Given the description of an element on the screen output the (x, y) to click on. 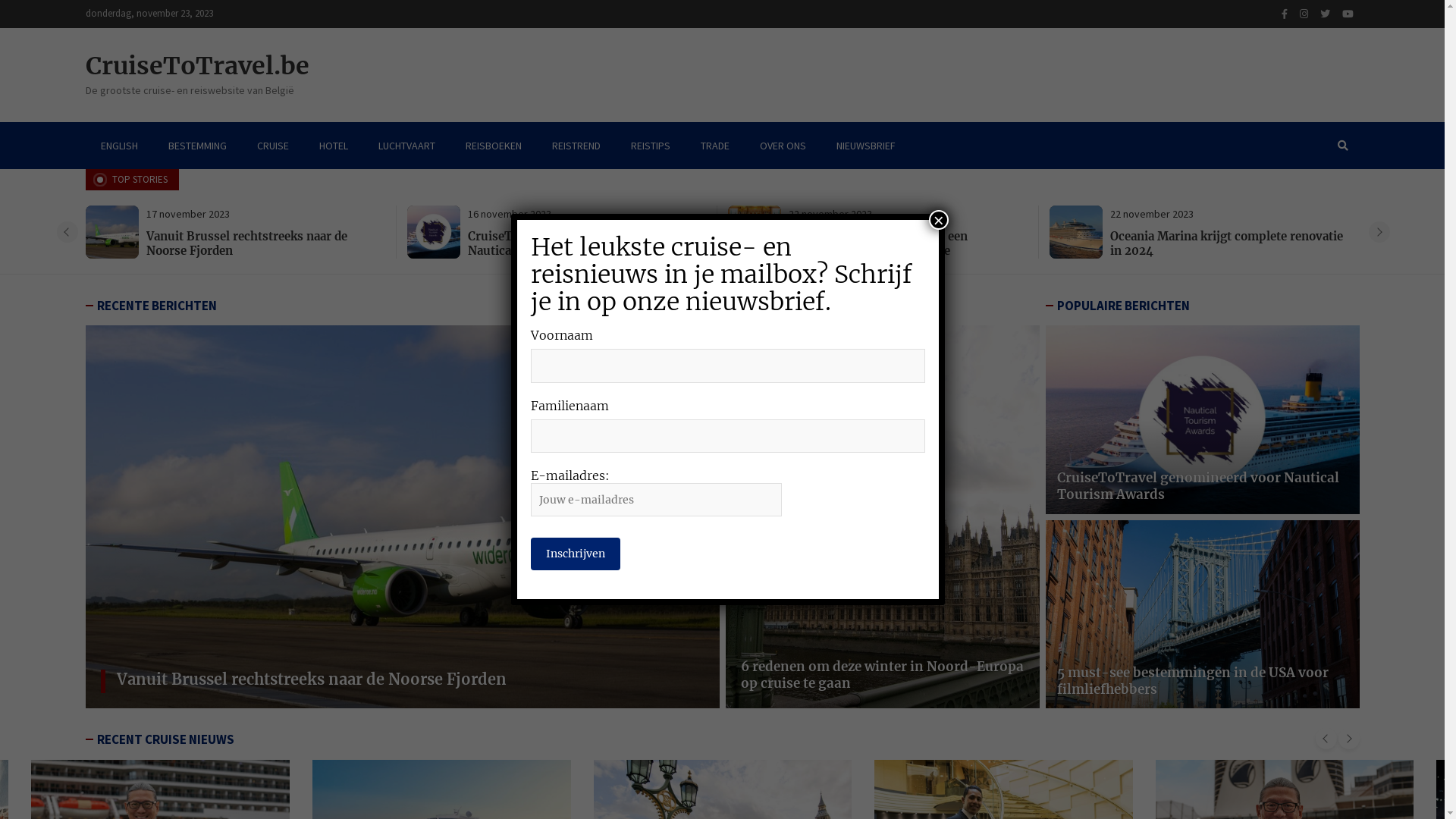
Roadtrip langs 9 betoverende kerststeden in Nedersaksen Element type: text (335, 678)
REISTIPS Element type: text (650, 145)
POPULAIRE BERICHTEN Element type: text (1123, 305)
LUCHTVAART Element type: text (405, 145)
OVER ONS Element type: text (782, 145)
AANBEVOLEN Element type: text (774, 305)
HOTEL Element type: text (332, 145)
RECENT CRUISE NIEUWS Element type: text (165, 739)
Roadtrip langs 9 betoverende kerststeden in Nedersaksen Element type: text (263, 243)
CruiseToTravel genomineerd voor Nautical Tourism Awards Element type: text (1198, 485)
RECENTE BERICHTEN Element type: text (156, 305)
TRADE Element type: text (714, 145)
5 must-see bestemmingen in de USA voor filmliefhebbers Element type: text (1192, 680)
CruiseToTravel genomineerd voor Nautical Tourism Awards Element type: text (885, 243)
Youtube Element type: hover (1347, 13)
NIEUWSBRIEF Element type: text (865, 145)
REISBOEKEN Element type: text (493, 145)
CRUISE Element type: text (272, 145)
6 redenen om deze winter in Noord-Europa op cruise te gaan Element type: text (881, 674)
Vanuit Brussel rechtstreeks naar de Noorse Fjorden Element type: text (567, 243)
CruiseToTravel.be Element type: text (196, 65)
REISTREND Element type: text (575, 145)
Inschrijven Element type: text (575, 553)
Facebook Element type: hover (1284, 13)
BESTEMMING Element type: text (197, 145)
ENGLISH Element type: text (118, 145)
Instagram Element type: hover (1303, 13)
Twitter Element type: hover (1324, 13)
